Given the description of an element on the screen output the (x, y) to click on. 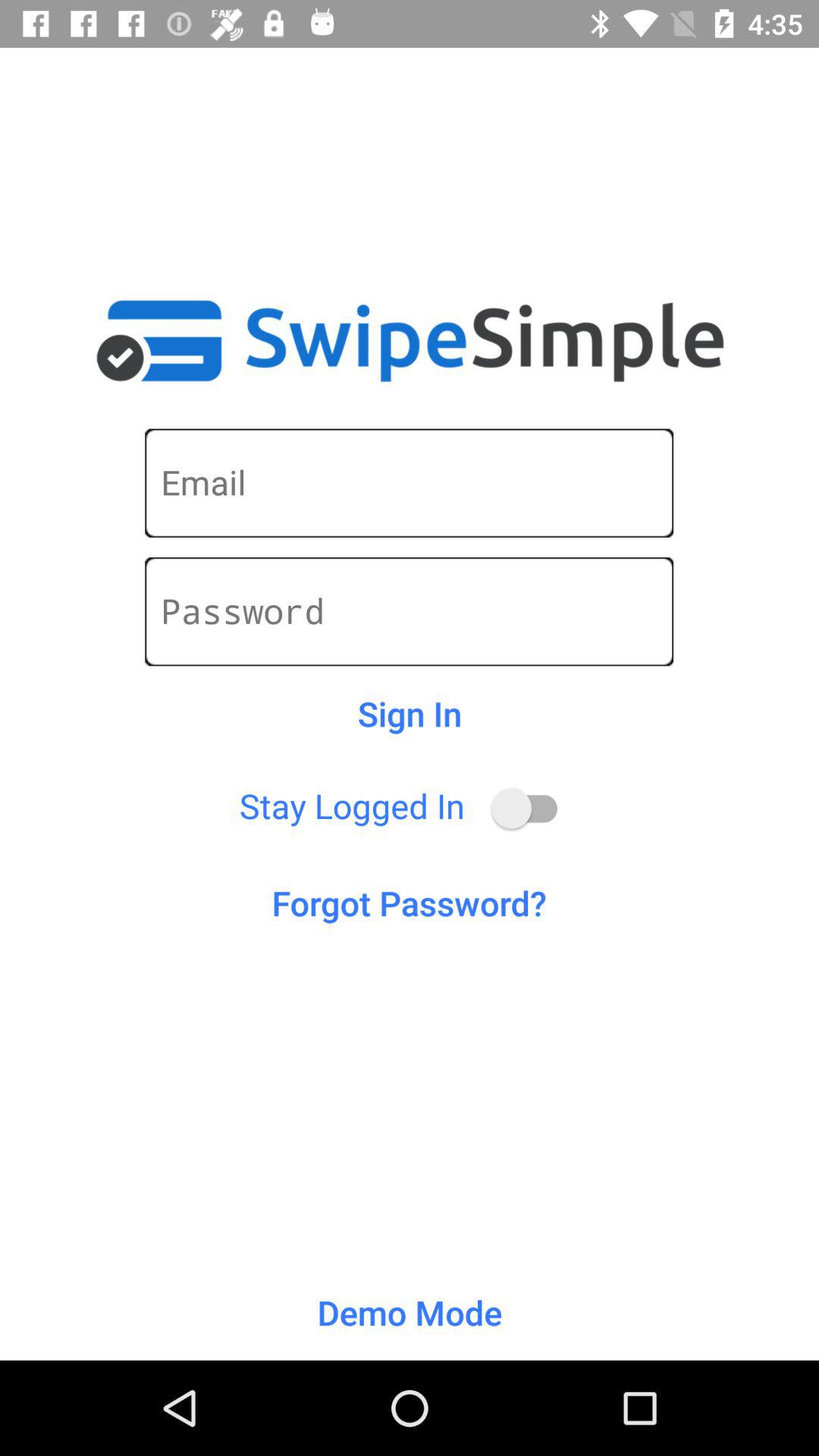
select the icon next to stay logged in icon (531, 808)
